Given the description of an element on the screen output the (x, y) to click on. 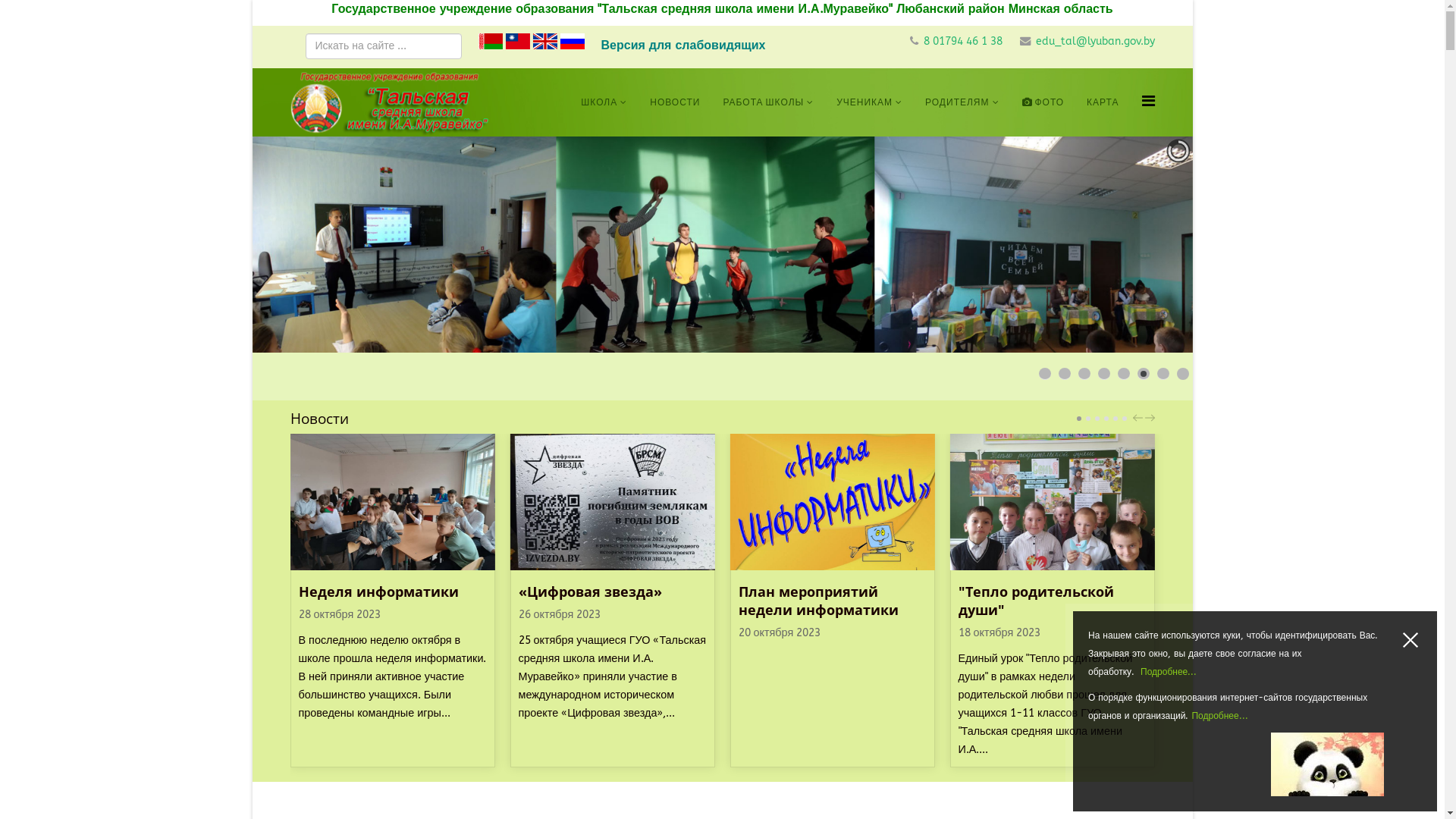
Chinese traditional Element type: hover (517, 41)
8 01794 46 1 38 Element type: text (962, 40)
PREV Element type: text (1137, 417)
Russian Element type: hover (571, 41)
Belarusian Element type: hover (489, 41)
edu_tal@lyuban.gov.by Element type: text (1094, 40)
Helix Megamenu Options Element type: hover (1148, 100)
NEXT Element type: text (1149, 417)
English Element type: hover (544, 41)
